Given the description of an element on the screen output the (x, y) to click on. 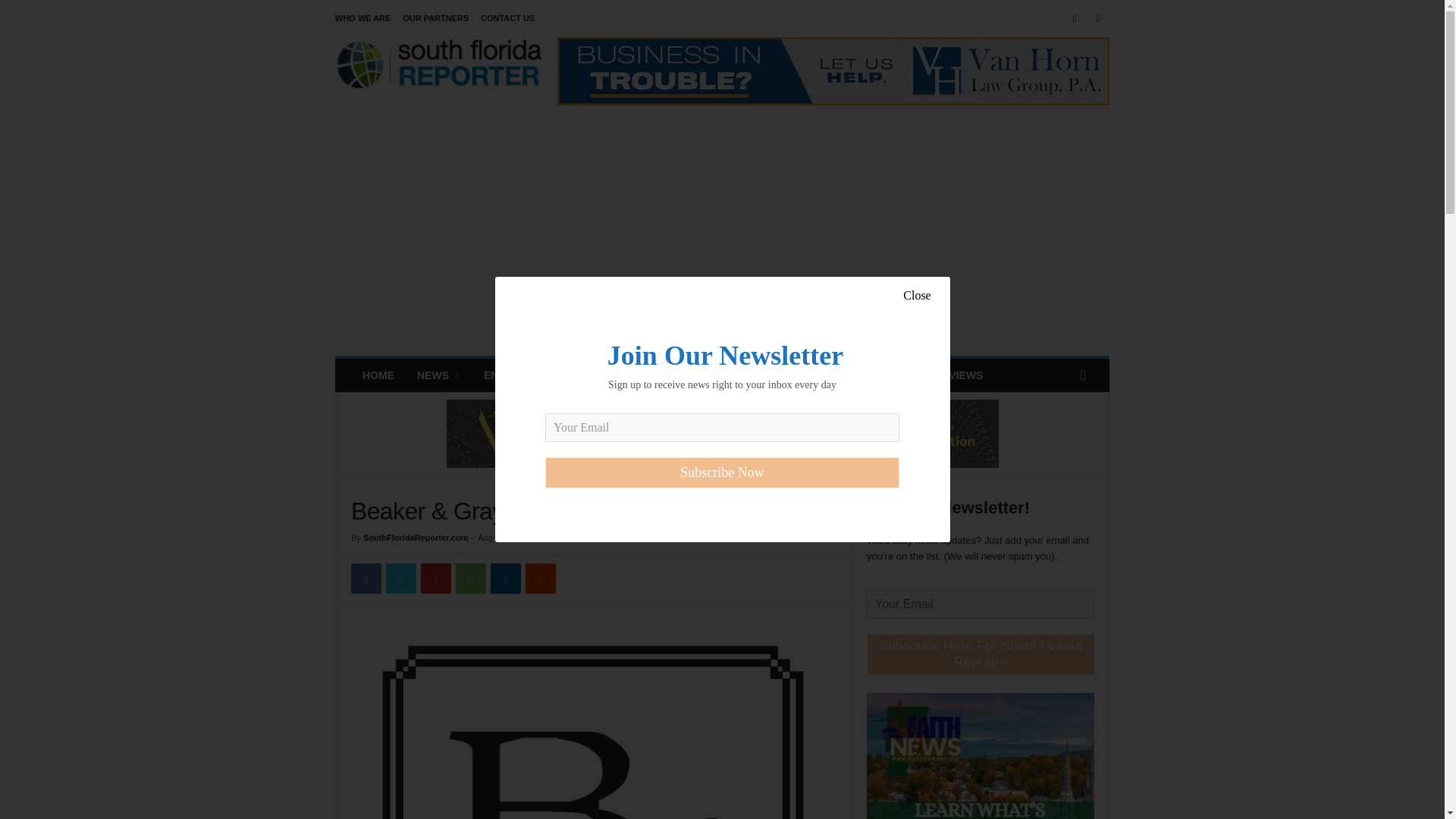
OUR PARTNERS (435, 17)
Pinterest (435, 578)
WINE REVIEWS (942, 375)
ENTERTAINMENT (528, 375)
SouthFloridaReporter.com (415, 537)
Linkedin (505, 578)
CONTACT US (507, 17)
Facebook (365, 578)
VIDEO (863, 375)
NEWS (438, 375)
